Given the description of an element on the screen output the (x, y) to click on. 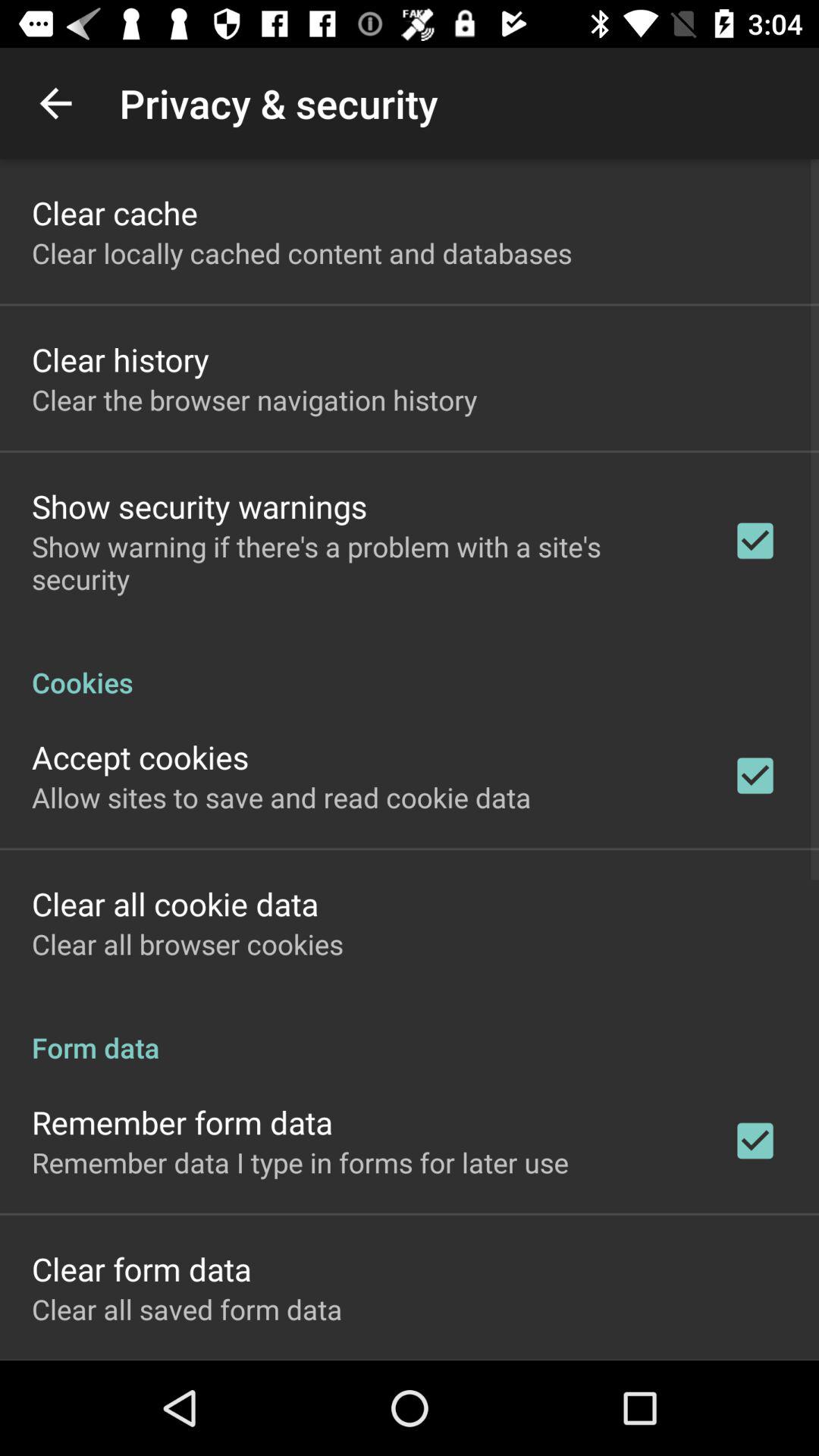
click the item next to the privacy & security app (55, 103)
